Given the description of an element on the screen output the (x, y) to click on. 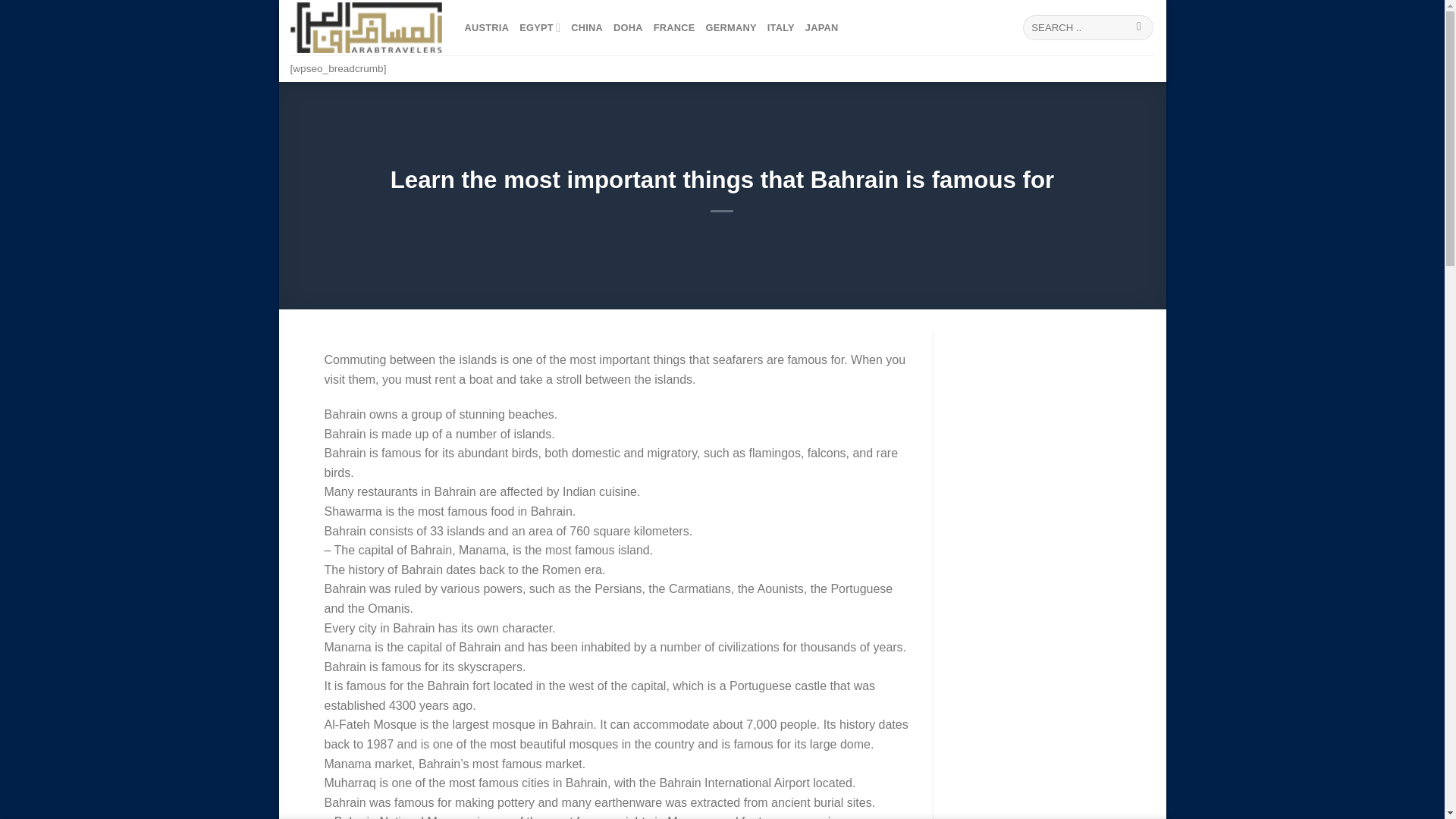
GERMANY (731, 26)
AUSTRIA (486, 26)
DOHA (627, 26)
FRANCE (674, 26)
ITALY (780, 26)
EGYPT (539, 27)
CHINA (586, 26)
JAPAN (821, 26)
arab travelers (365, 27)
